Given the description of an element on the screen output the (x, y) to click on. 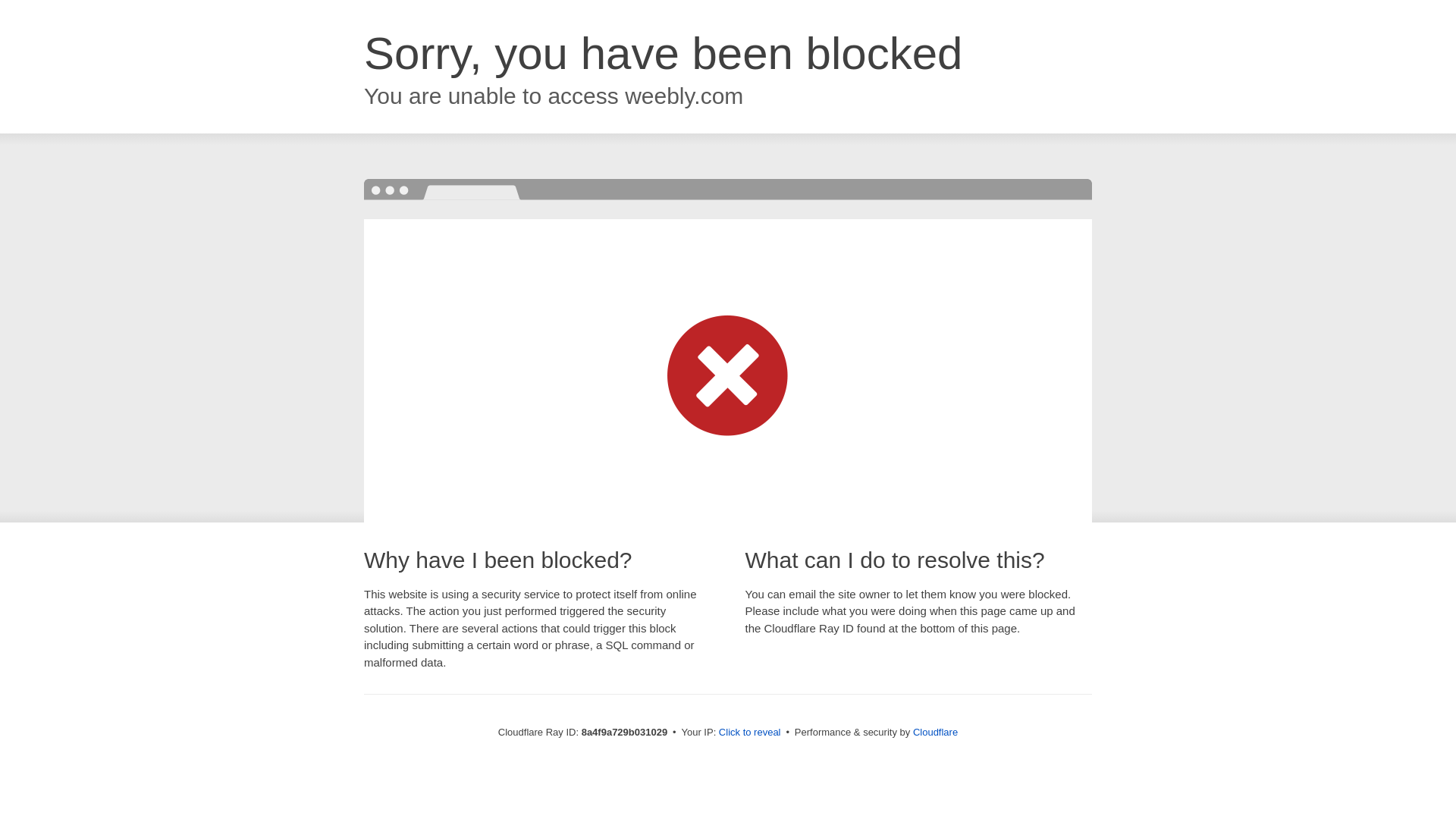
Click to reveal (749, 732)
Cloudflare (935, 731)
